Given the description of an element on the screen output the (x, y) to click on. 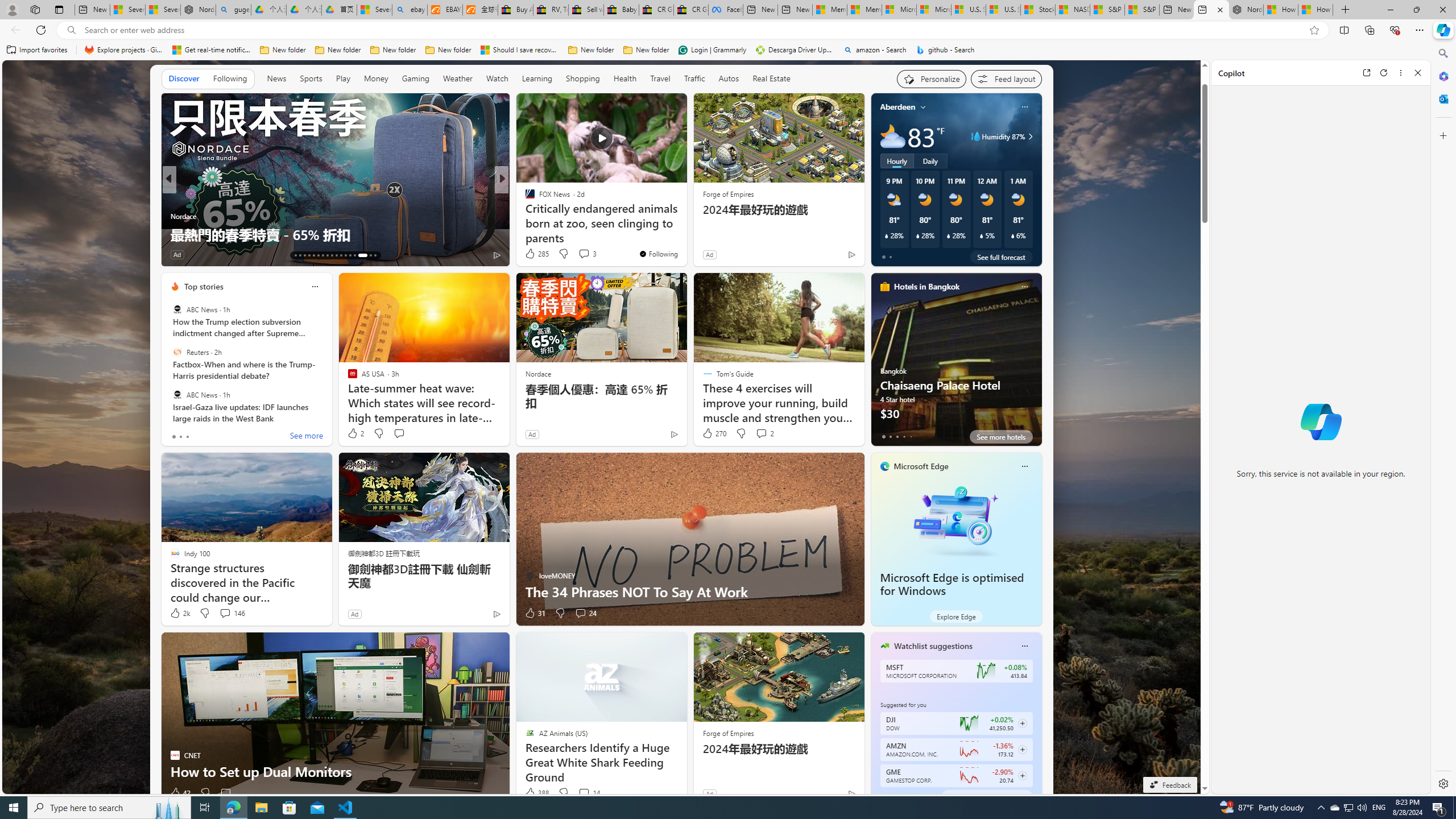
Hotels in Bangkok (926, 286)
News (276, 78)
Learning (536, 78)
AutomationID: tab-13 (295, 255)
See watchlist suggestions (986, 796)
AutomationID: tab-20 (327, 255)
Real Estate (771, 79)
amazon - Search (875, 49)
AutomationID: tab-17 (313, 255)
Shopping (583, 79)
